Given the description of an element on the screen output the (x, y) to click on. 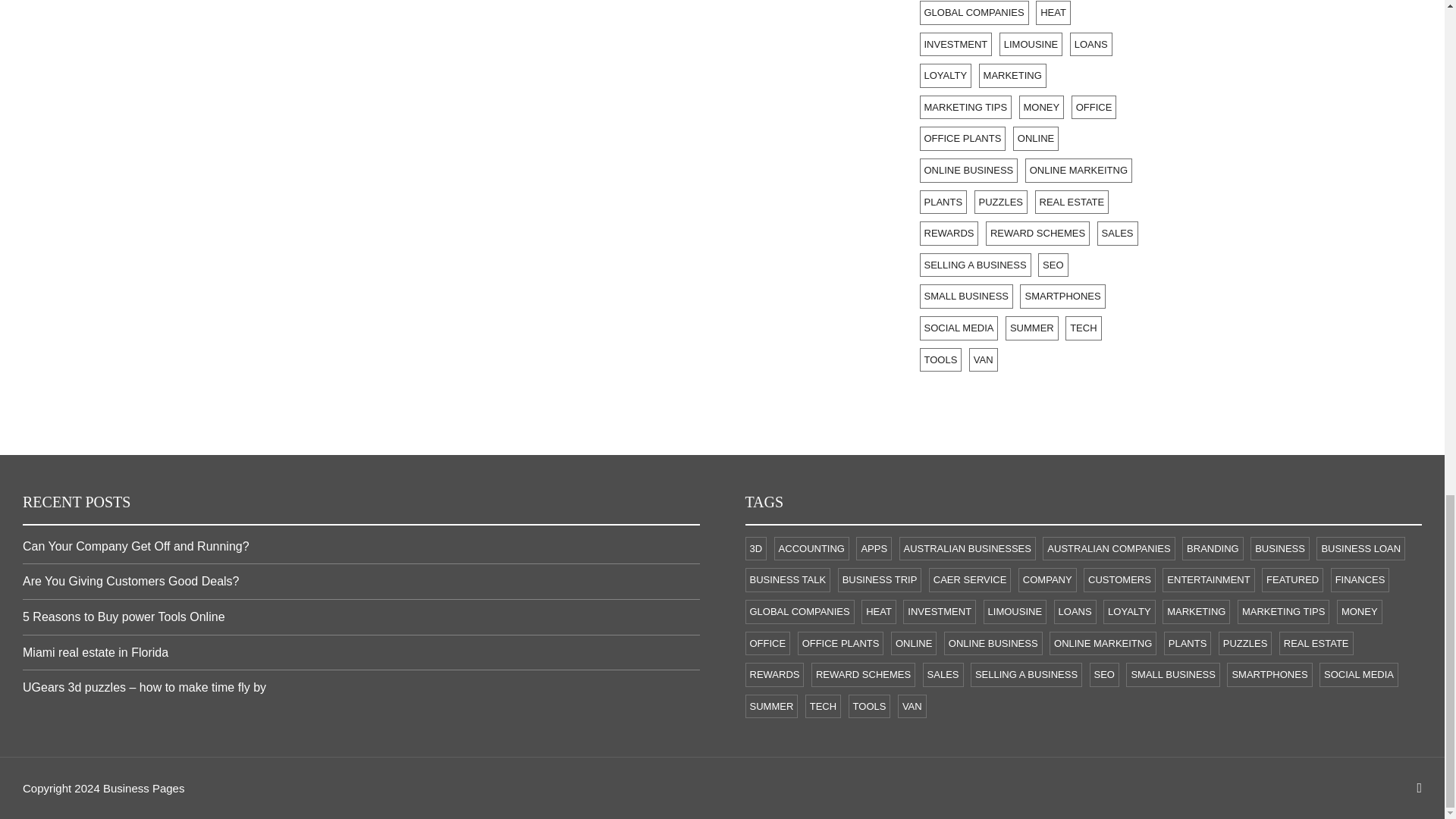
facebook (1419, 788)
